Given the description of an element on the screen output the (x, y) to click on. 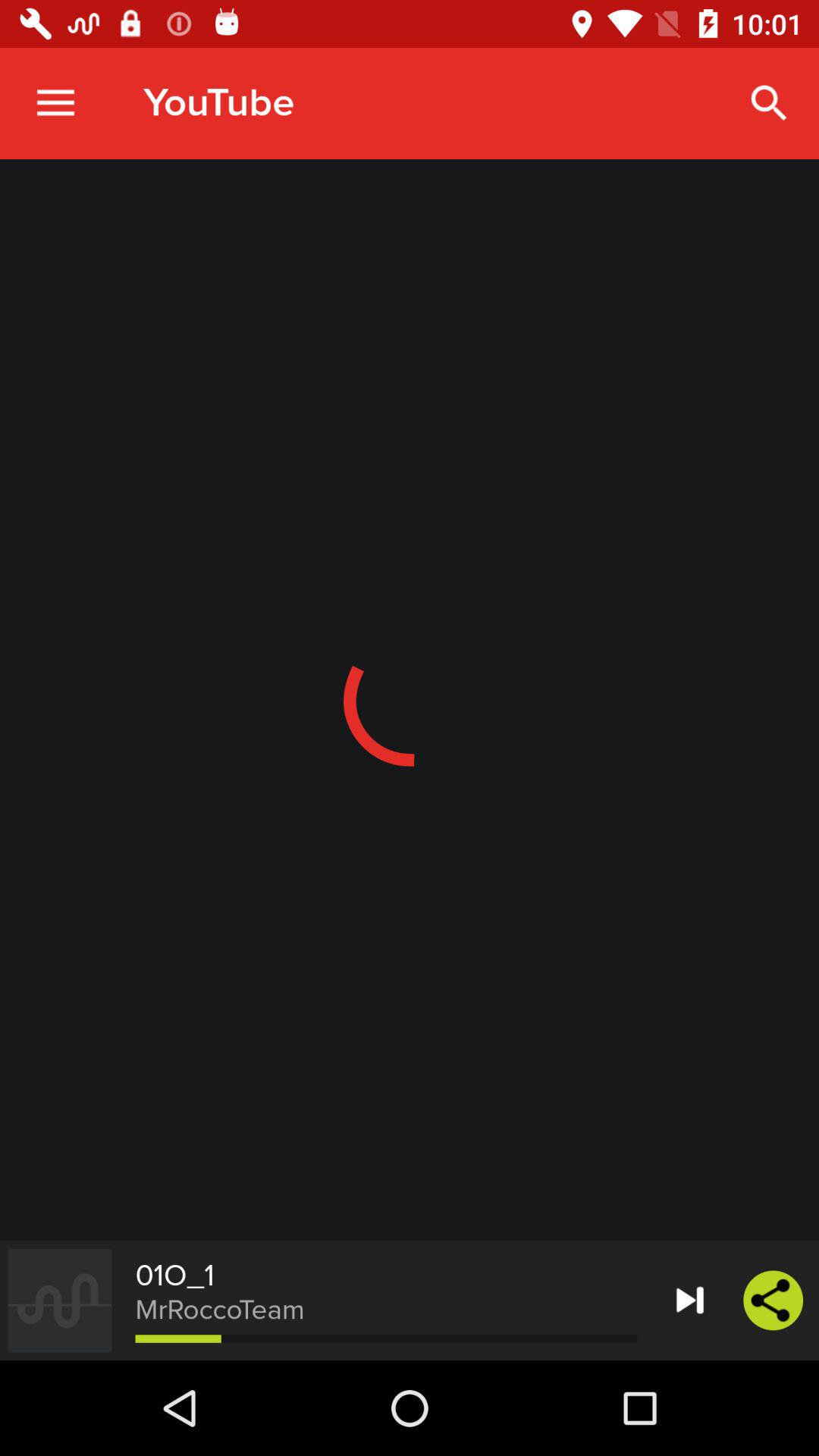
open the icon next to youtube item (55, 103)
